Given the description of an element on the screen output the (x, y) to click on. 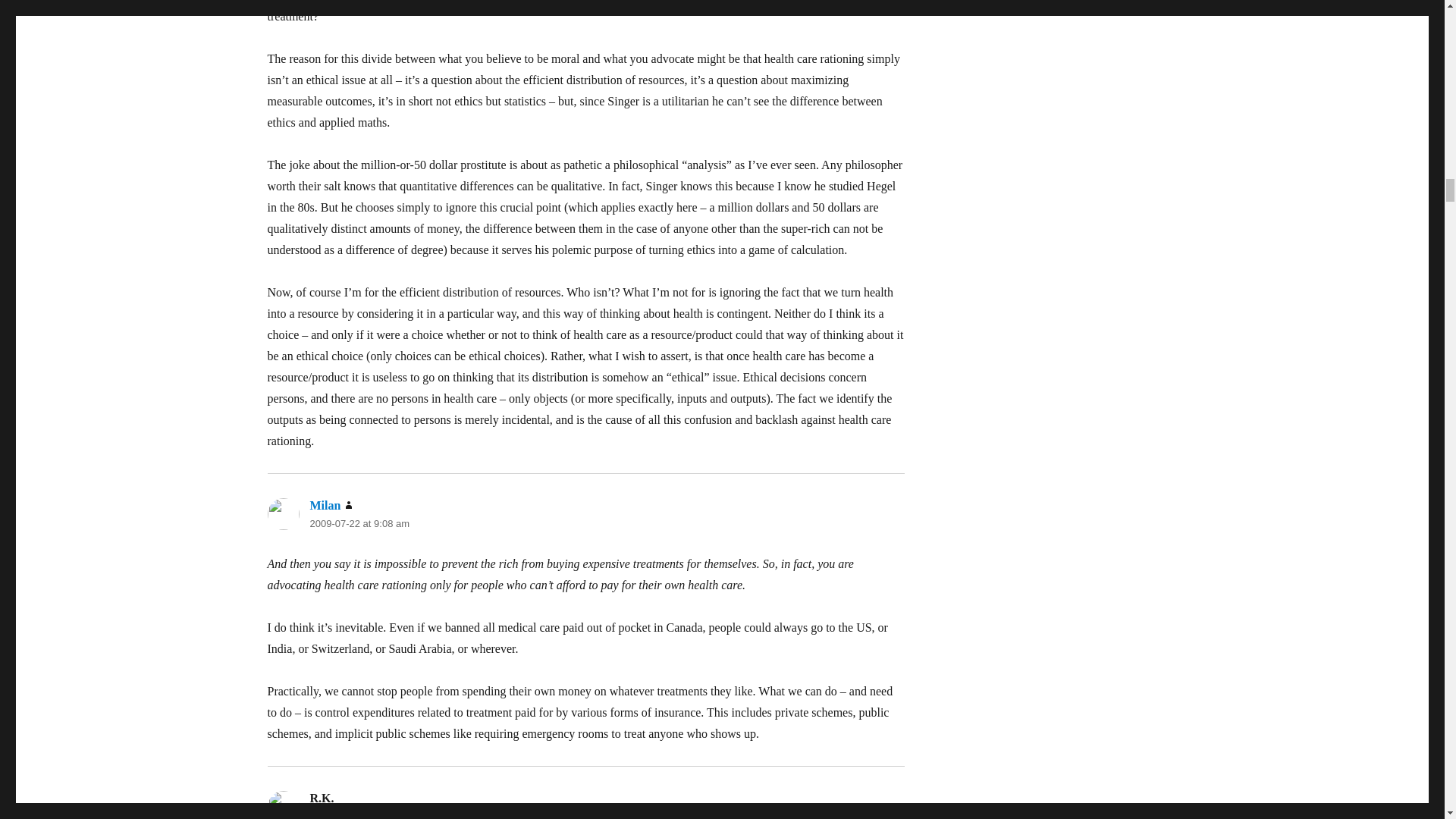
2009-07-22 at 10:28 am (361, 814)
2009-07-22 at 9:08 am (358, 523)
Milan (324, 504)
